Given the description of an element on the screen output the (x, y) to click on. 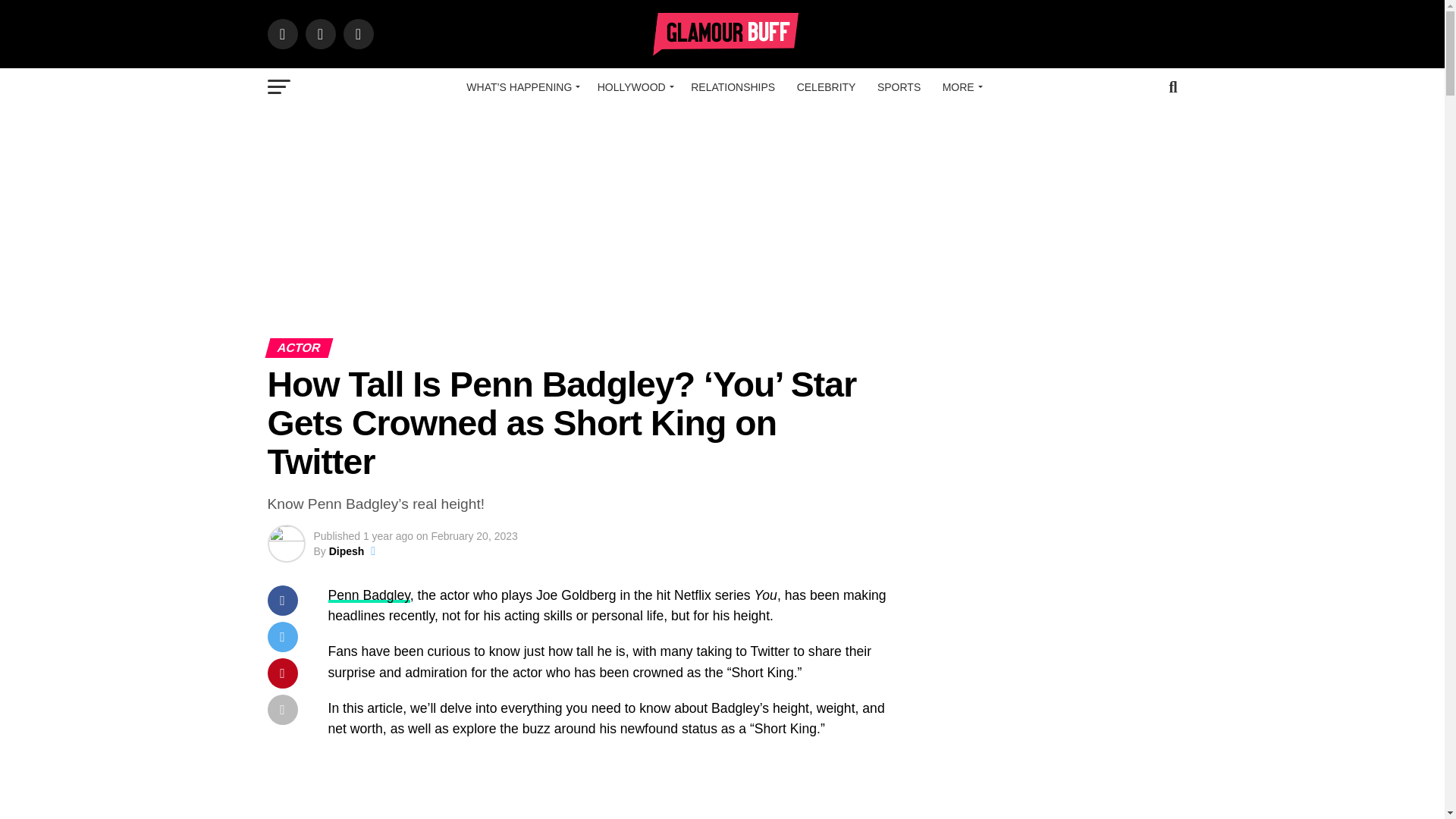
HOLLYWOOD (633, 86)
Posts by Dipesh (347, 551)
